Given the description of an element on the screen output the (x, y) to click on. 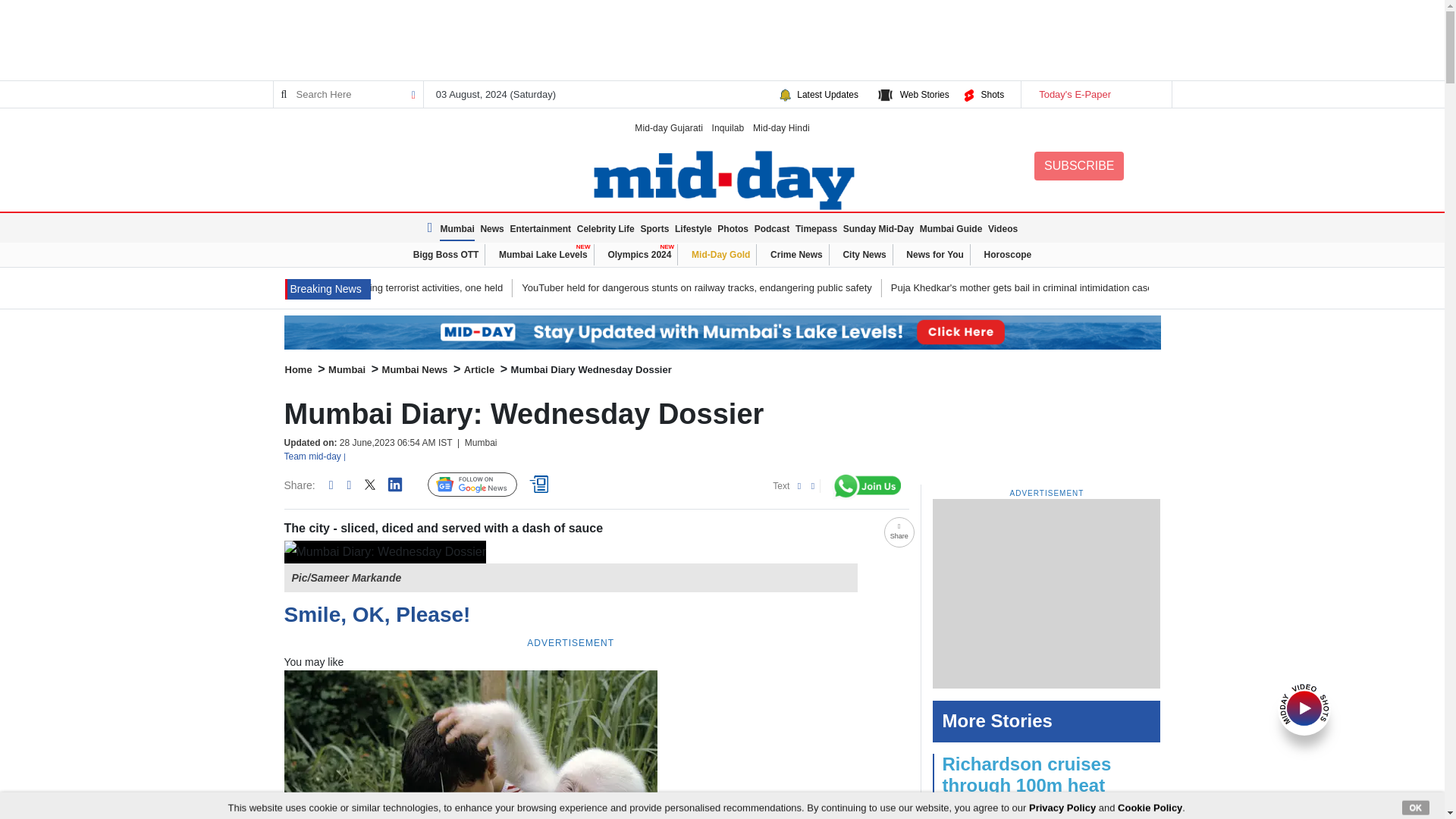
Web Stories (924, 94)
Latest News (432, 227)
Inquilab (728, 127)
Mumbai Diary: Wednesday Dossier (383, 551)
SUBSCRIBE (1078, 165)
Mid-day Hindi (780, 127)
Quick Reads (541, 485)
Shots (991, 94)
Mid-day Gujarati (668, 127)
Latest News (328, 289)
